Given the description of an element on the screen output the (x, y) to click on. 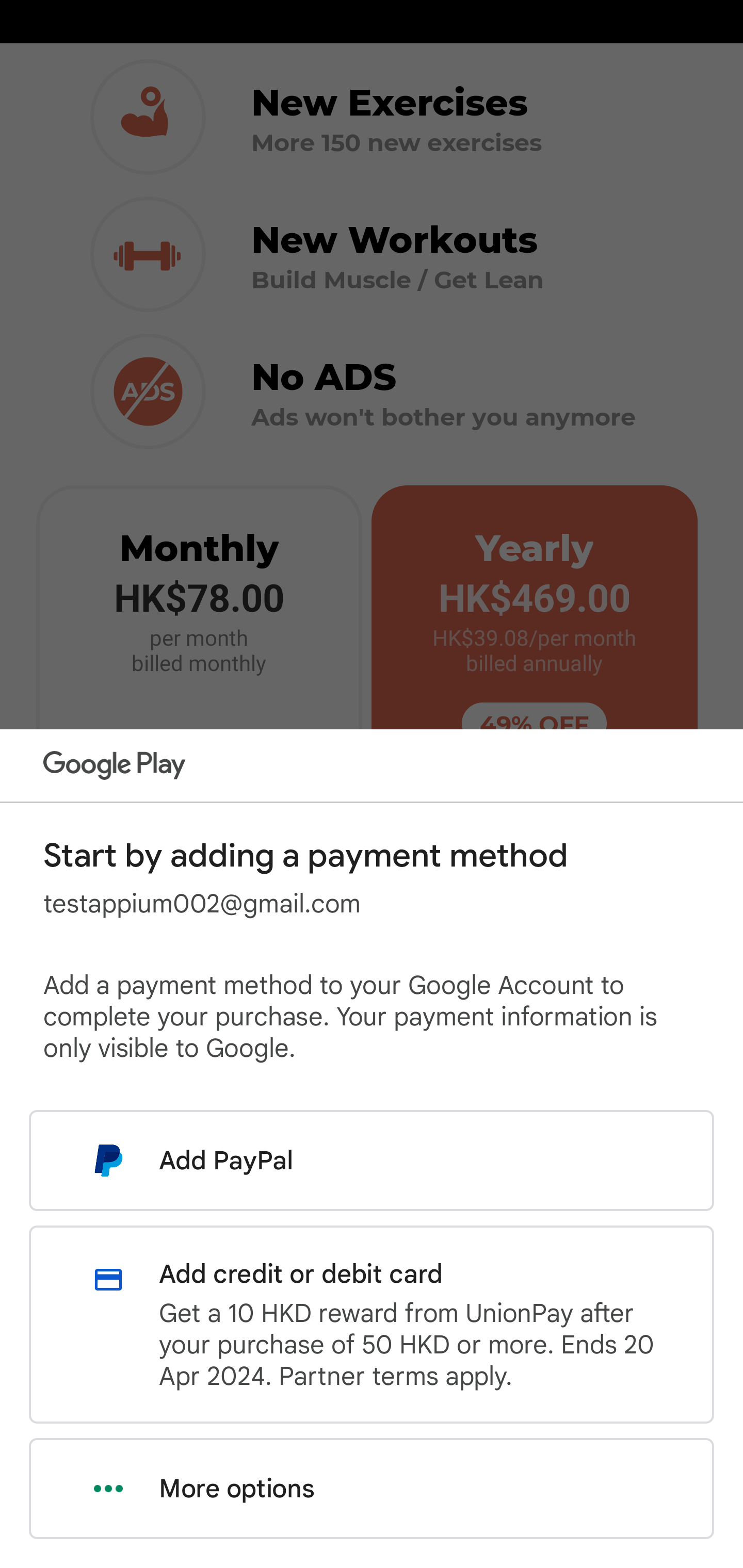
Add PayPal (371, 1160)
More options (371, 1488)
